Given the description of an element on the screen output the (x, y) to click on. 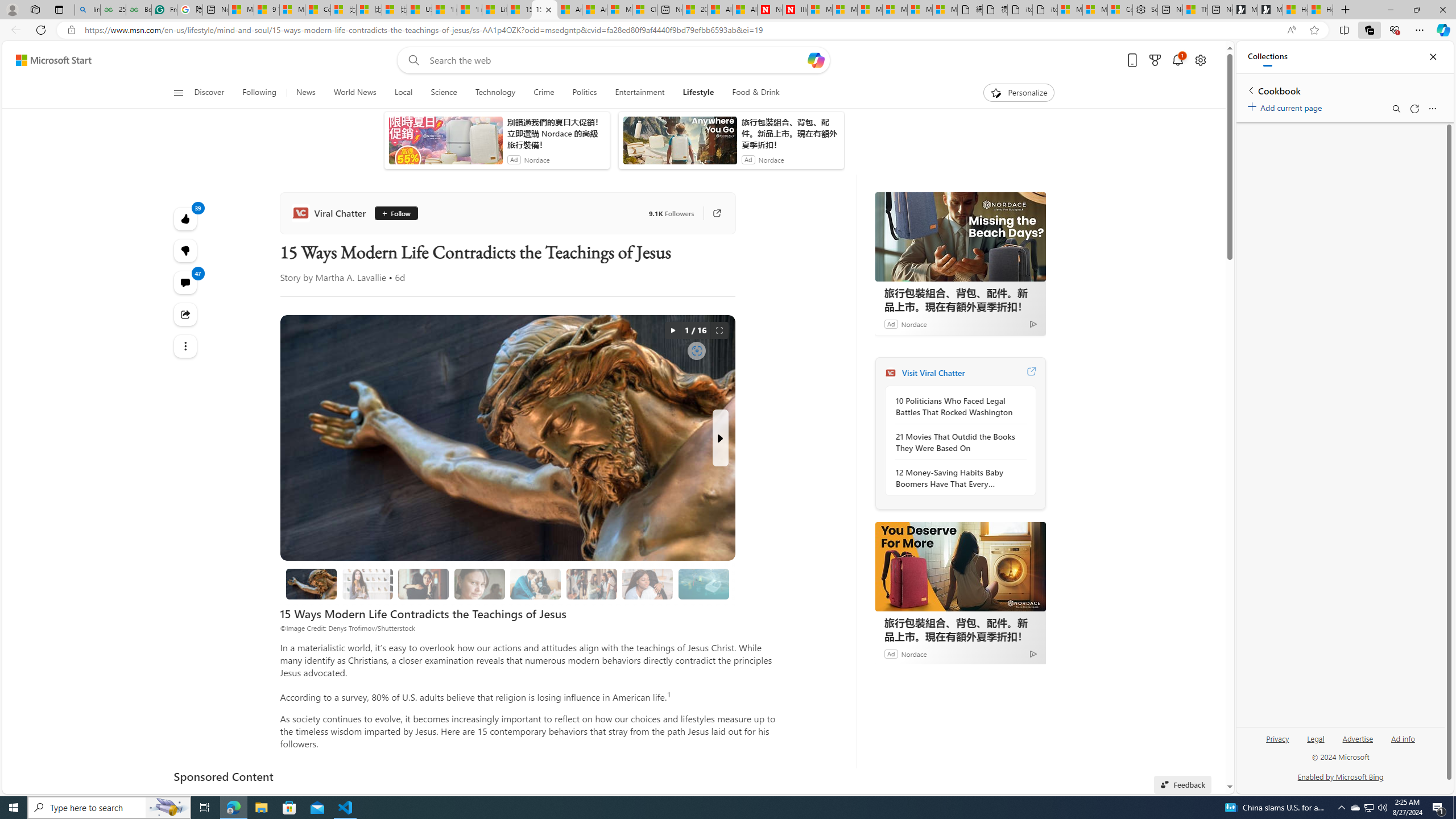
World News (355, 92)
Viral Chatter (331, 212)
Microsoft Start Gaming (1270, 9)
USA TODAY - MSN (418, 9)
Personal Profile (12, 9)
Minimize (1390, 9)
Politics (584, 92)
Local (403, 92)
Back to list of collections (1250, 90)
Illness news & latest pictures from Newsweek.com (794, 9)
itconcepthk.com/projector_solutions.mp4 (1044, 9)
Discover (208, 92)
Legal (1315, 738)
Following (259, 92)
